Given the description of an element on the screen output the (x, y) to click on. 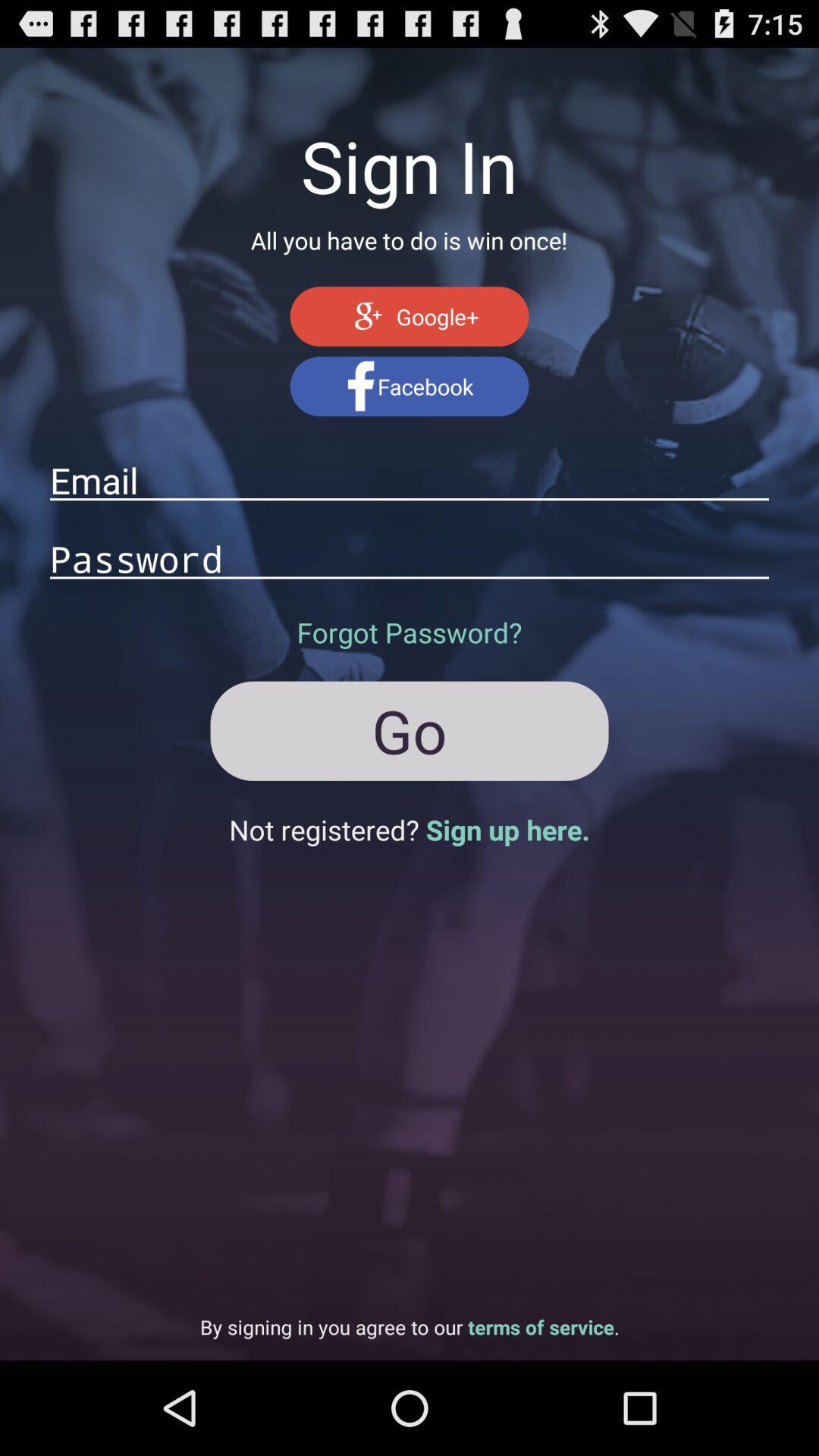
enter text (409, 558)
